Given the description of an element on the screen output the (x, y) to click on. 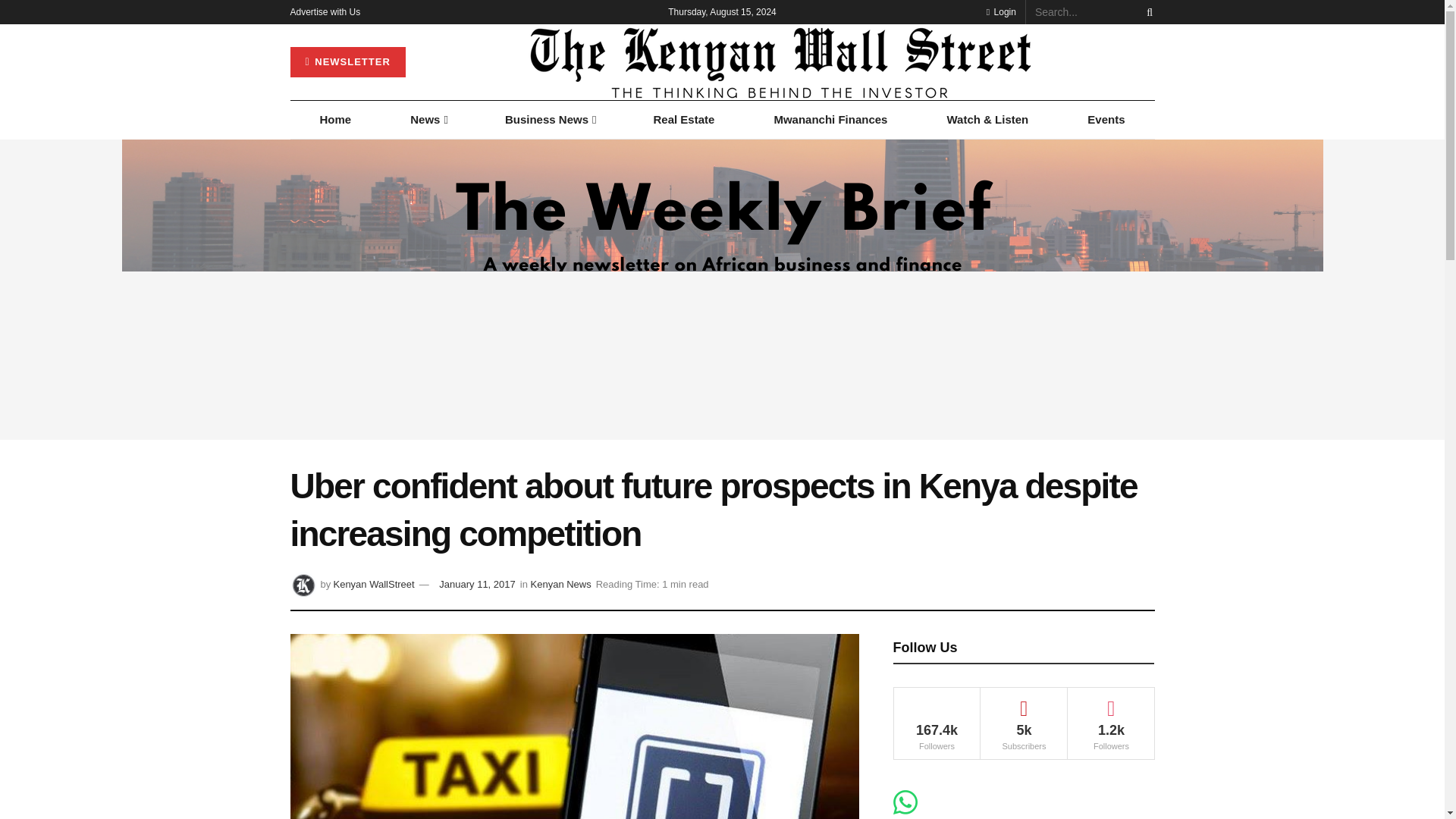
Home (334, 119)
Events (1106, 119)
Login (1001, 12)
Real Estate (683, 119)
News (428, 119)
Business News (550, 119)
Mwananchi Finances (830, 119)
Advertise with Us (324, 12)
NEWSLETTER (346, 61)
